Given the description of an element on the screen output the (x, y) to click on. 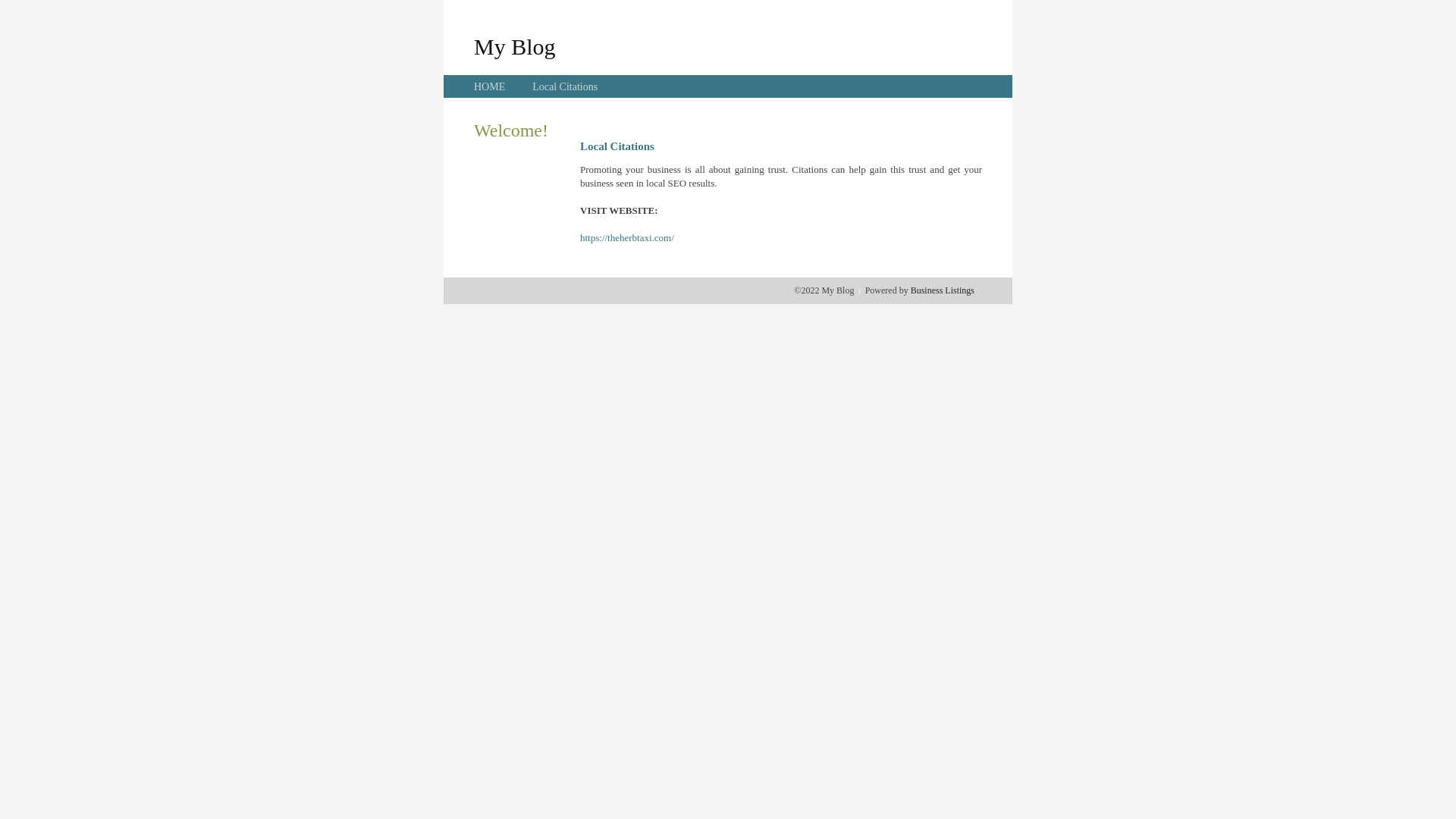
HOME Element type: text (489, 86)
Local Citations Element type: text (564, 86)
Business Listings Element type: text (942, 290)
My Blog Element type: text (514, 46)
https://theherbtaxi.com/ Element type: text (627, 237)
